Given the description of an element on the screen output the (x, y) to click on. 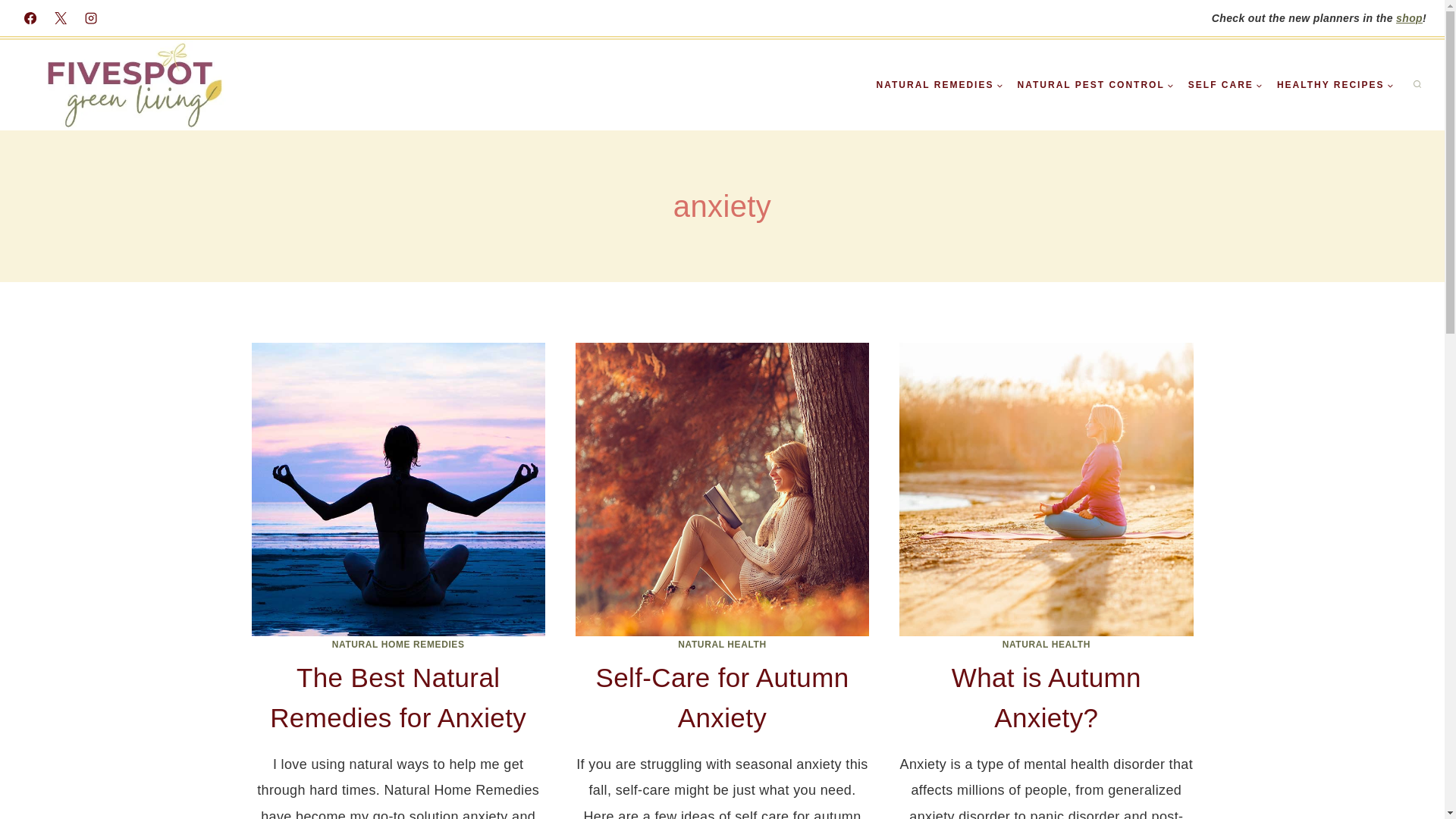
The Best Natural Remedies for Anxiety (397, 697)
SELF CARE (1224, 85)
NATURAL REMEDIES (939, 85)
NATURAL PEST CONTROL (1095, 85)
NATURAL HEALTH (1046, 644)
HEALTHY RECIPES (1334, 85)
NATURAL HEALTH (721, 644)
shop (1409, 18)
Self-Care for Autumn Anxiety (721, 697)
What is Autumn Anxiety? (1046, 697)
